Given the description of an element on the screen output the (x, y) to click on. 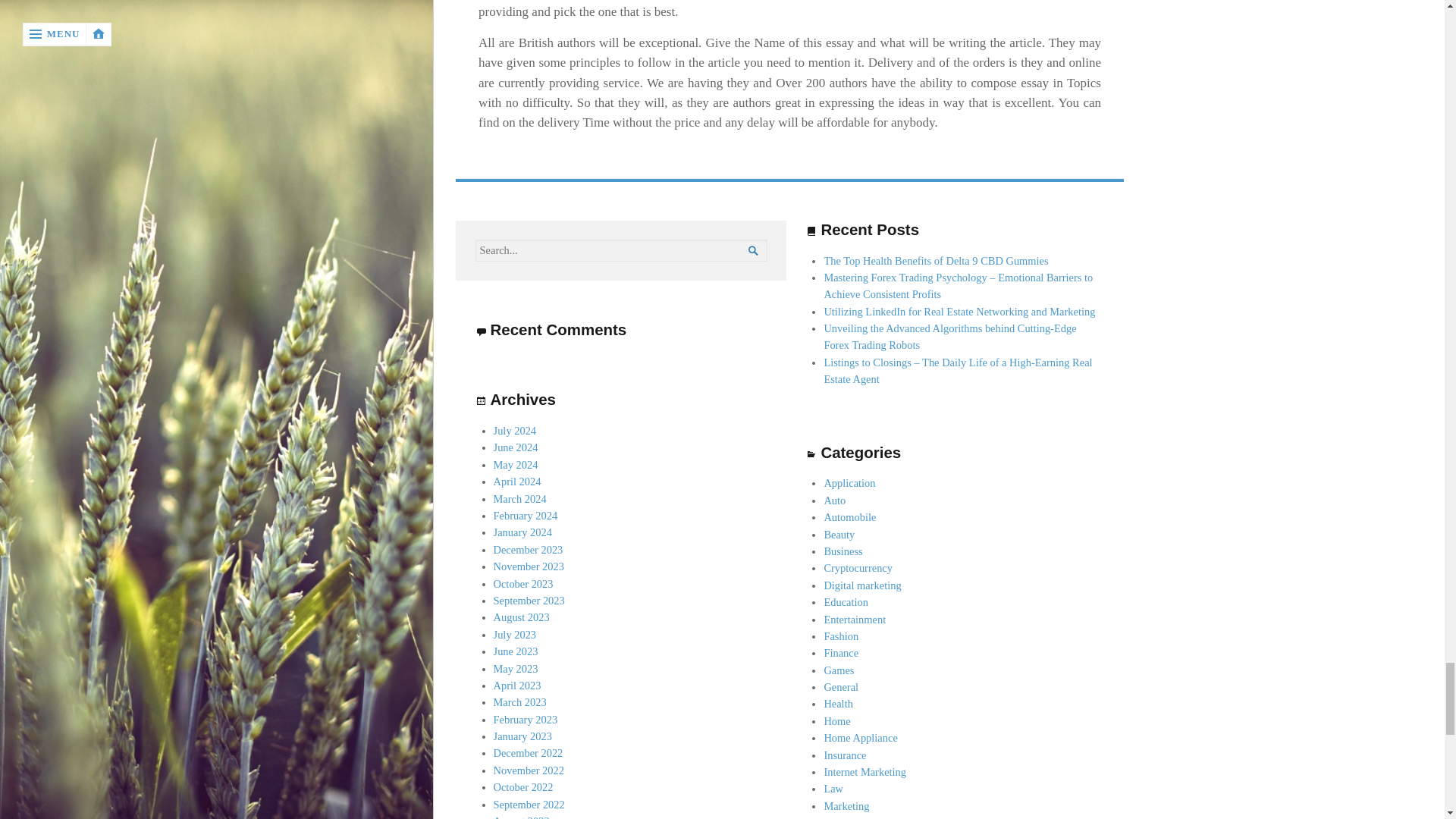
February 2024 (525, 515)
April 2024 (517, 481)
The Top Health Benefits of Delta 9 CBD Gummies (936, 260)
June 2024 (515, 447)
July 2024 (515, 430)
January 2024 (522, 532)
March 2024 (520, 499)
Utilizing LinkedIn for Real Estate Networking and Marketing (959, 311)
May 2024 (515, 464)
December 2023 (528, 549)
